Given the description of an element on the screen output the (x, y) to click on. 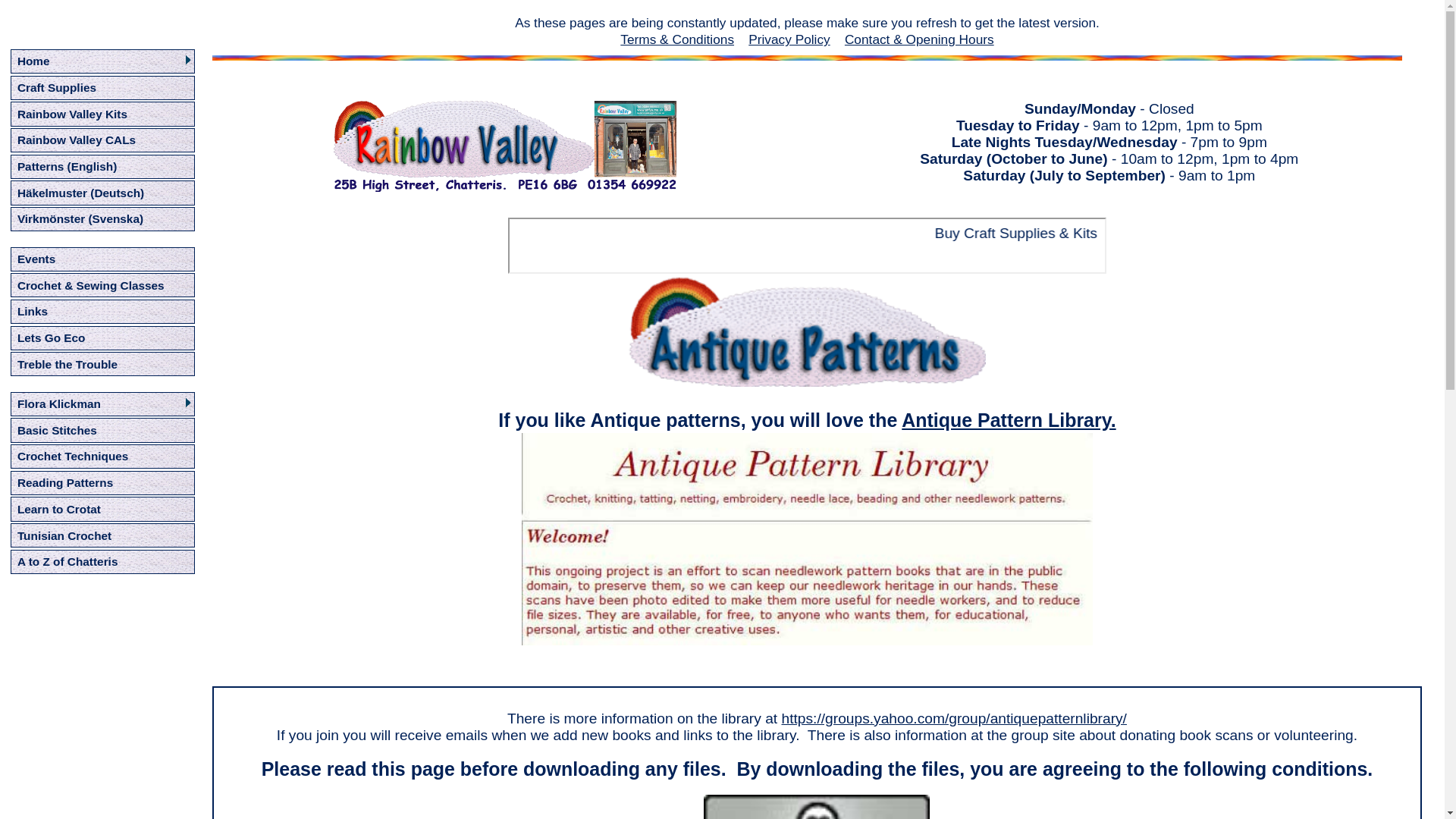
Basic Stitches (57, 430)
Tunisian Crochet (64, 535)
Rainbow Valley Kits (72, 113)
Reading Patterns (65, 481)
Learn to Crotat (58, 508)
Contact (919, 38)
Flora Klickman (58, 403)
The data we collect and what we do with it. (788, 38)
Privacy Policy (788, 38)
Lets Go Eco (51, 337)
Terms and Conditions (676, 38)
Links (32, 310)
Crochet Techniques (73, 455)
Craft Supplies (56, 87)
